Given the description of an element on the screen output the (x, y) to click on. 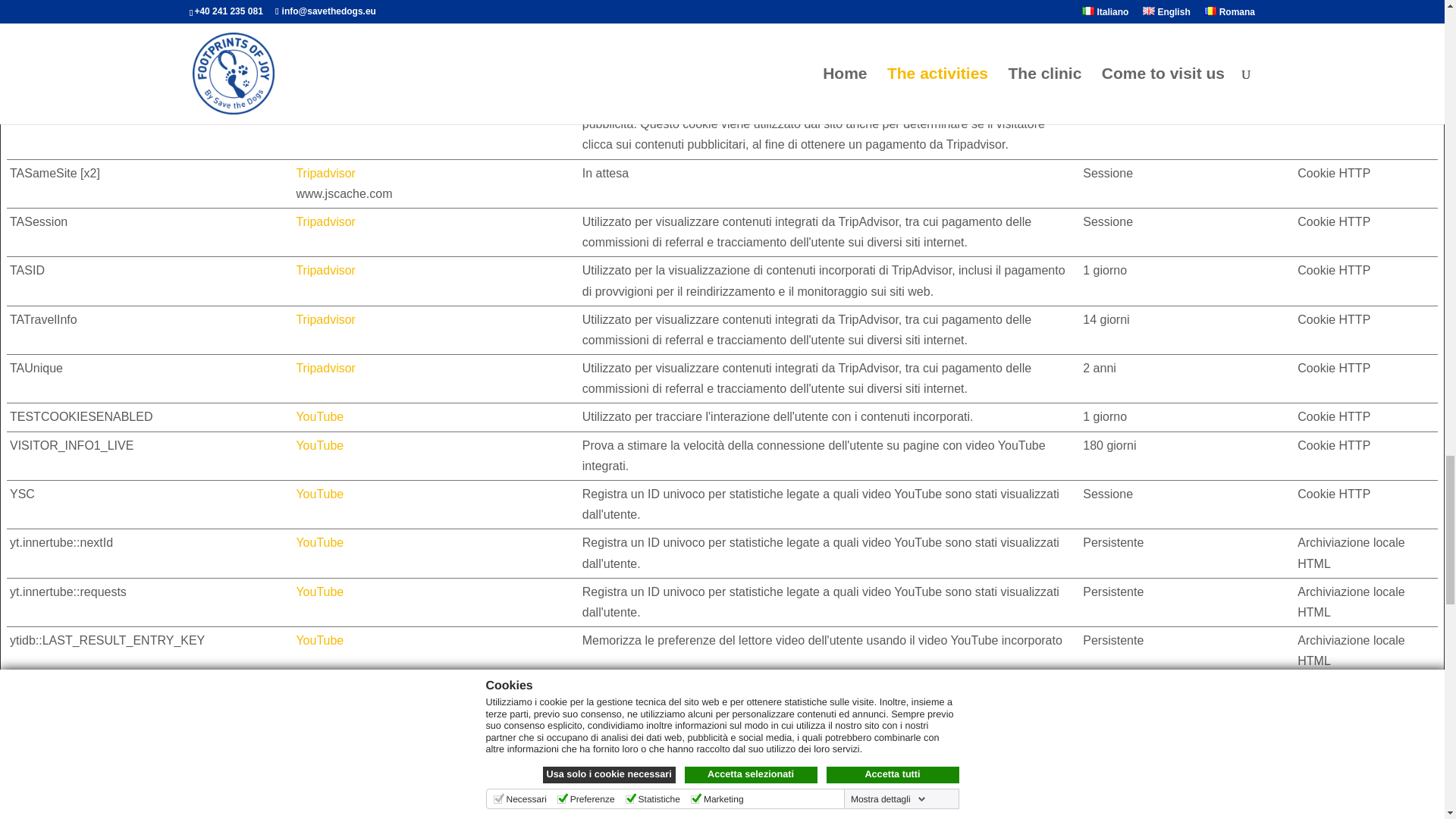
Tripadvisor (325, 269)
Tripadvisor (325, 6)
Tripadvisor (325, 318)
Tripadvisor (325, 54)
Tripadvisor (325, 221)
Tripadvisor (325, 367)
Tripadvisor (325, 103)
Tripadvisor (325, 173)
